Given the description of an element on the screen output the (x, y) to click on. 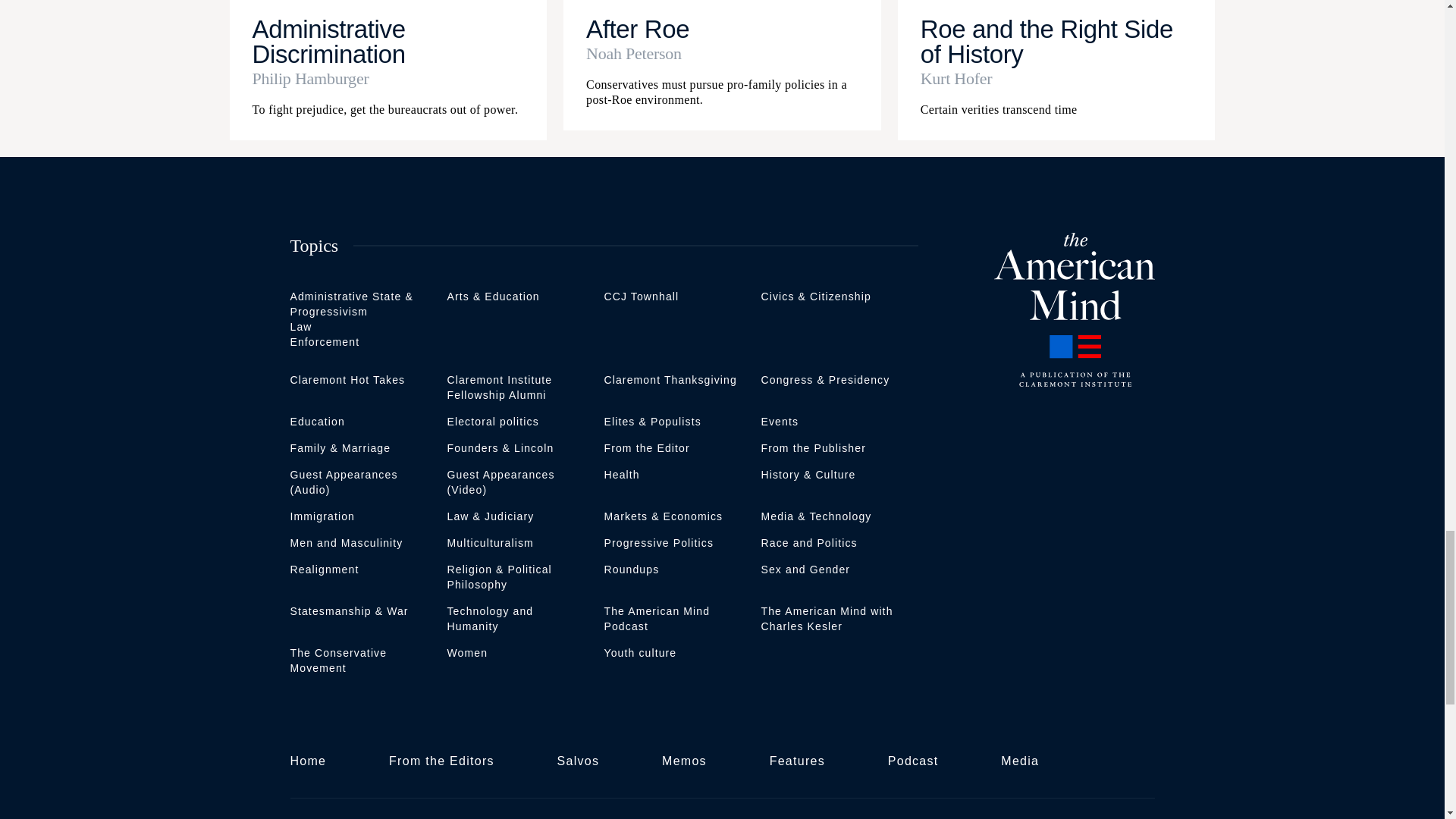
Posts by Noah Peterson (722, 53)
Administrative Discrimination (327, 41)
Posts by Philip Hamburger (387, 78)
Posts by Kurt Hofer (1056, 78)
Noah Peterson (722, 53)
Philip Hamburger (387, 78)
After Roe (637, 29)
